Given the description of an element on the screen output the (x, y) to click on. 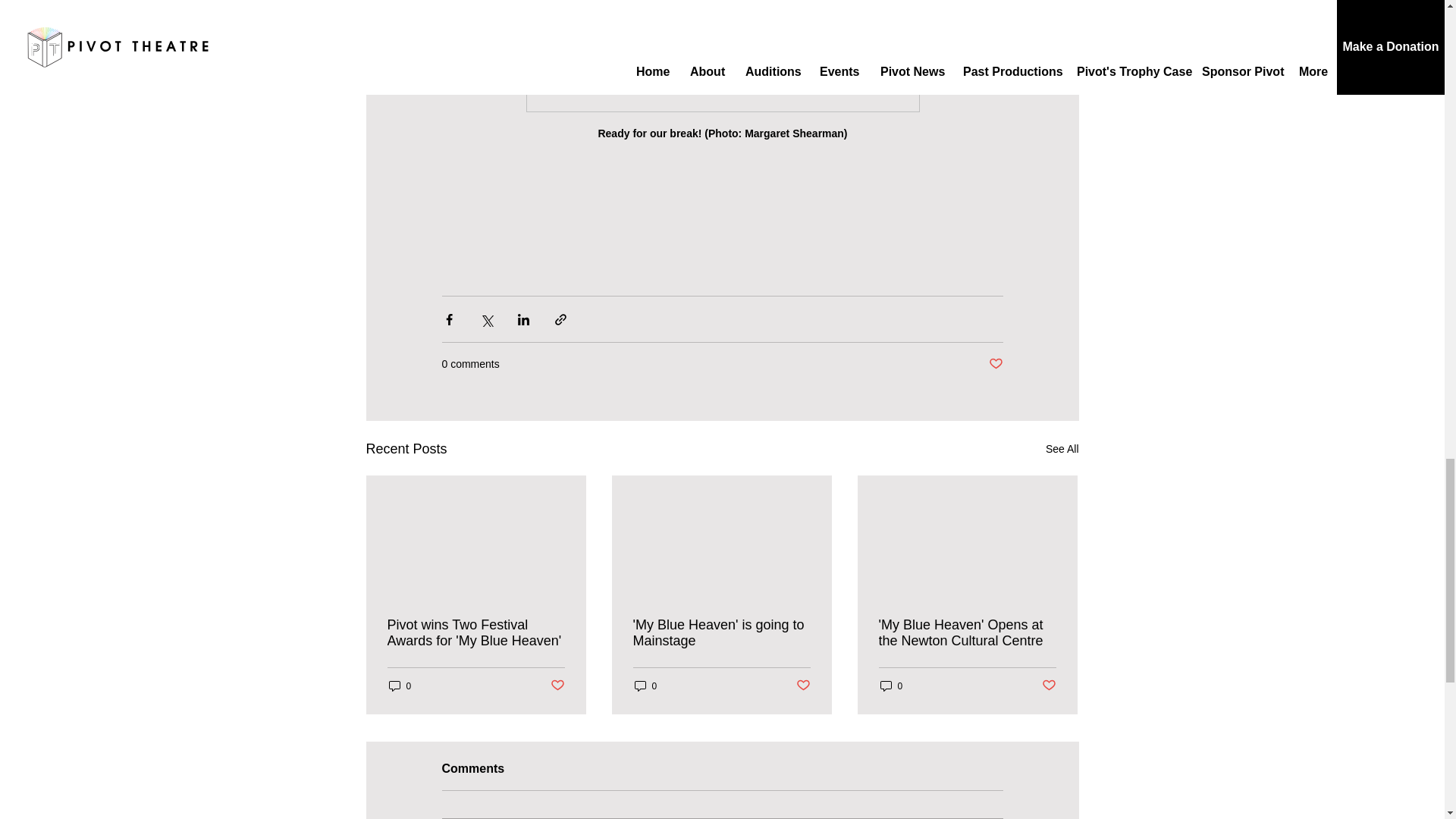
Post not marked as liked (995, 364)
Post not marked as liked (803, 685)
'My Blue Heaven' is going to Mainstage (720, 633)
Post not marked as liked (1049, 685)
0 (644, 685)
0 (399, 685)
Post not marked as liked (557, 685)
0 (890, 685)
See All (1061, 449)
'My Blue Heaven' Opens at the Newton Cultural Centre (966, 633)
Pivot wins Two Festival Awards for 'My Blue Heaven' (475, 633)
